Given the description of an element on the screen output the (x, y) to click on. 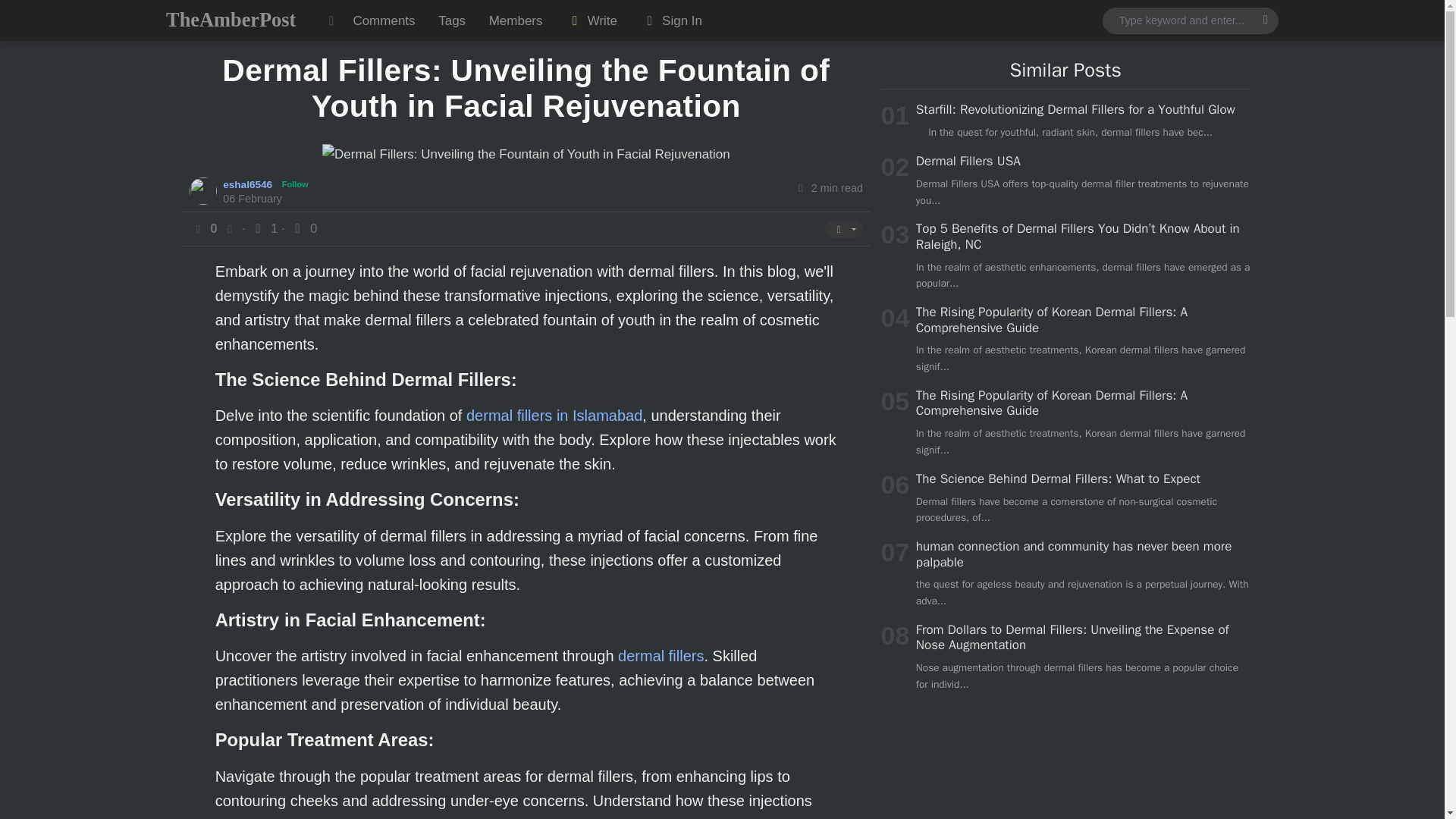
TheAmberPost (230, 20)
Views (264, 228)
The Science Behind Dermal Fillers: What to Expect (1057, 478)
0 (302, 228)
Tags (451, 20)
eshal6546 (249, 183)
Comments (383, 20)
dermal fillers (660, 655)
Toggle dark mode (330, 20)
dermal fillers in Islamabad (553, 415)
Write (591, 20)
